Given the description of an element on the screen output the (x, y) to click on. 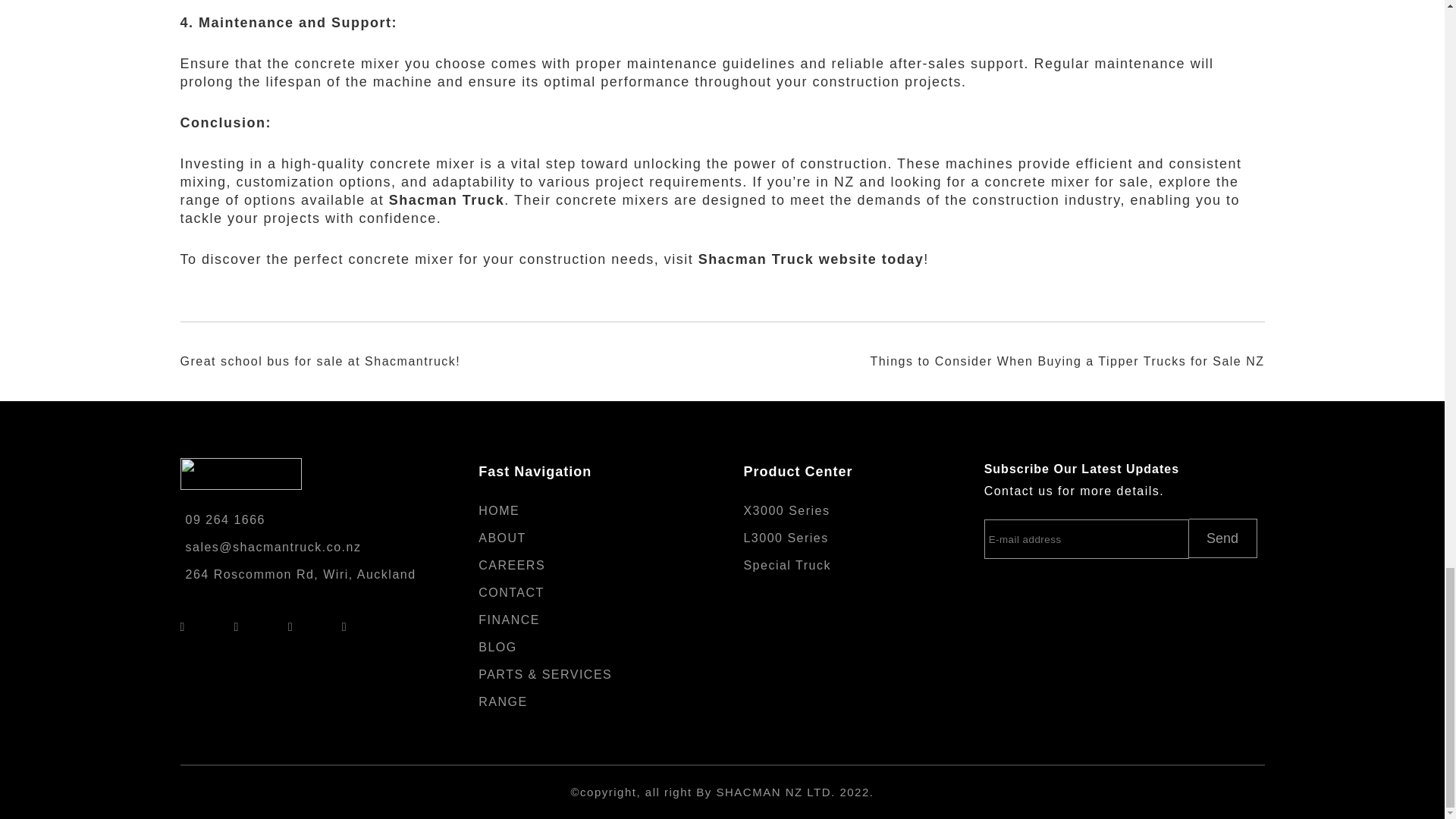
Great school bus for sale at Shacmantruck! (320, 360)
CONTACT (511, 592)
CAREERS (511, 564)
Things to Consider When Buying a Tipper Trucks for Sale NZ (1066, 360)
264 Roscommon Rd, Wiri, Auckland (263, 585)
FINANCE (509, 619)
HOME (499, 510)
Shacman Truck website today (811, 258)
09 264 1666 (263, 511)
ABOUT (502, 537)
BLOG (497, 646)
